Given the description of an element on the screen output the (x, y) to click on. 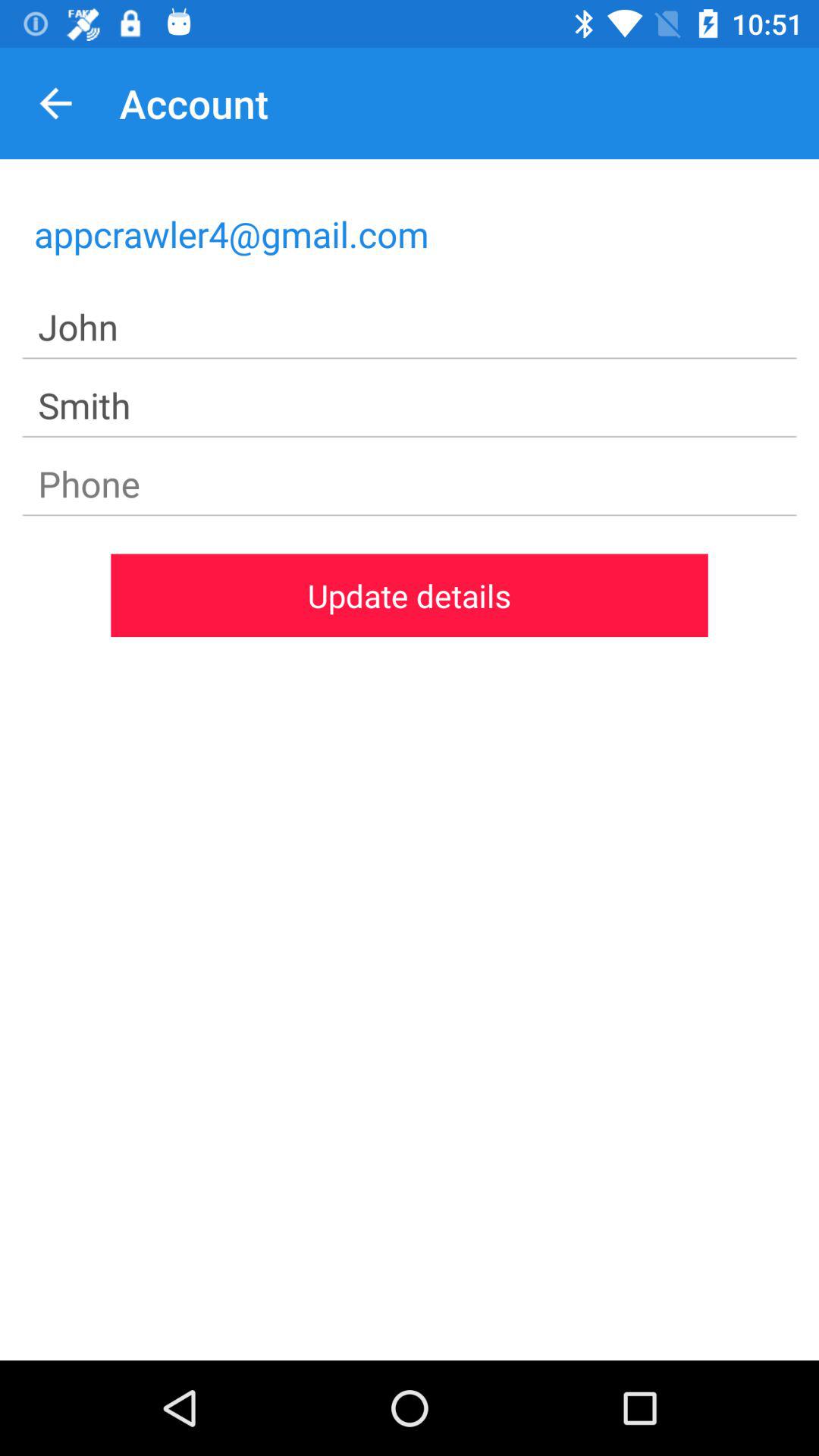
press smith icon (409, 405)
